Given the description of an element on the screen output the (x, y) to click on. 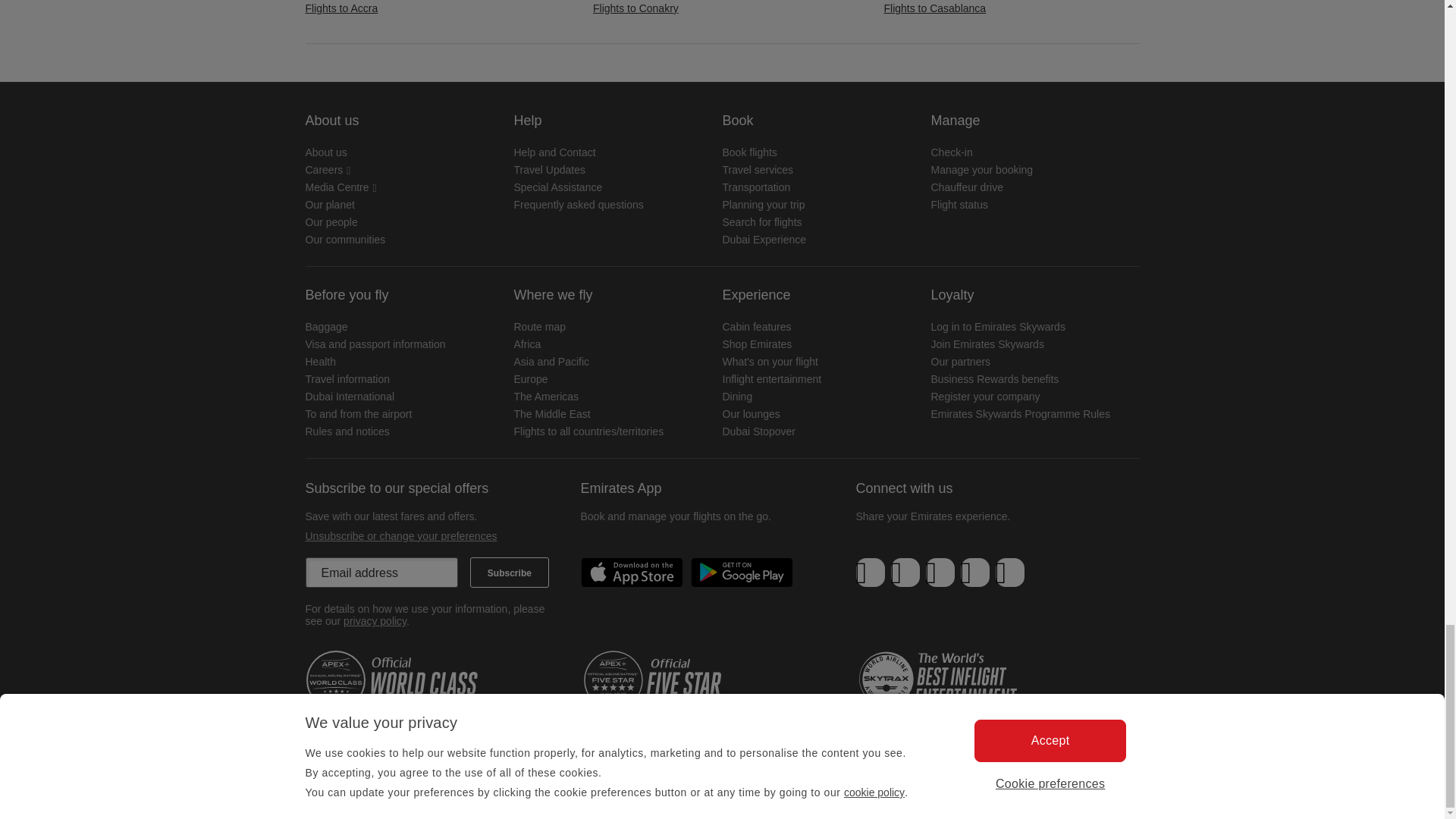
World Class Airline APEX Official Airline Ratings (395, 680)
privacy policy (374, 621)
LinkedIn (939, 572)
Youtube (974, 572)
X-social (904, 572)
Apex five star rating 2021 (673, 680)
Unsubscribe or change your preferences (400, 535)
Facebook (870, 572)
Instagram (1009, 572)
